Given the description of an element on the screen output the (x, y) to click on. 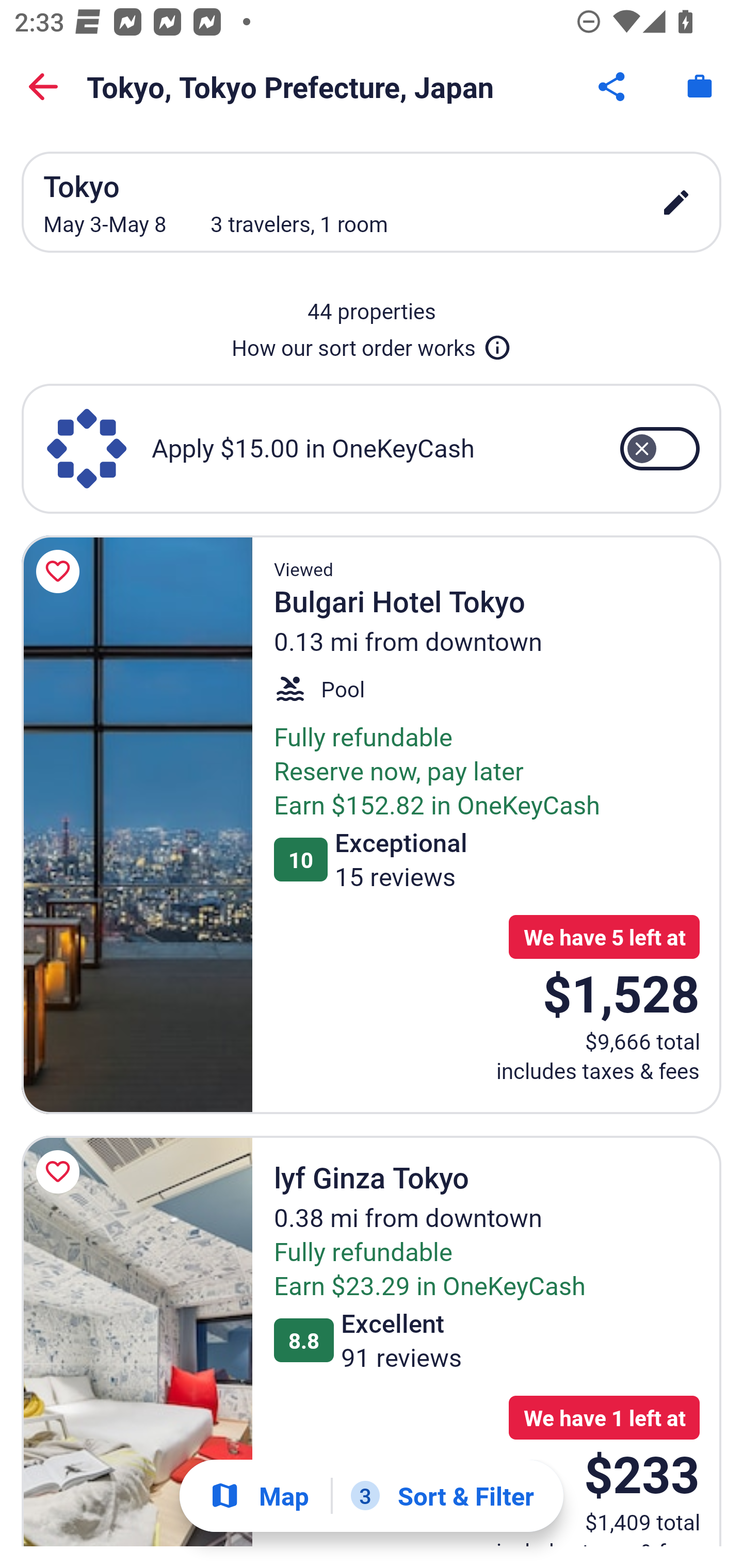
Back (43, 86)
Share Button (612, 86)
Trips. Button (699, 86)
Tokyo May 3-May 8 3 travelers, 1 room edit (371, 202)
How our sort order works (371, 344)
Save Bulgari Hotel Tokyo to a trip (61, 571)
Bulgari Hotel Tokyo (136, 824)
Save lyf Ginza Tokyo to a trip (61, 1171)
lyf Ginza Tokyo (136, 1340)
3 Sort & Filter 3 Filters applied. Filters Button (442, 1495)
Show map Map Show map Button (258, 1495)
